Given the description of an element on the screen output the (x, y) to click on. 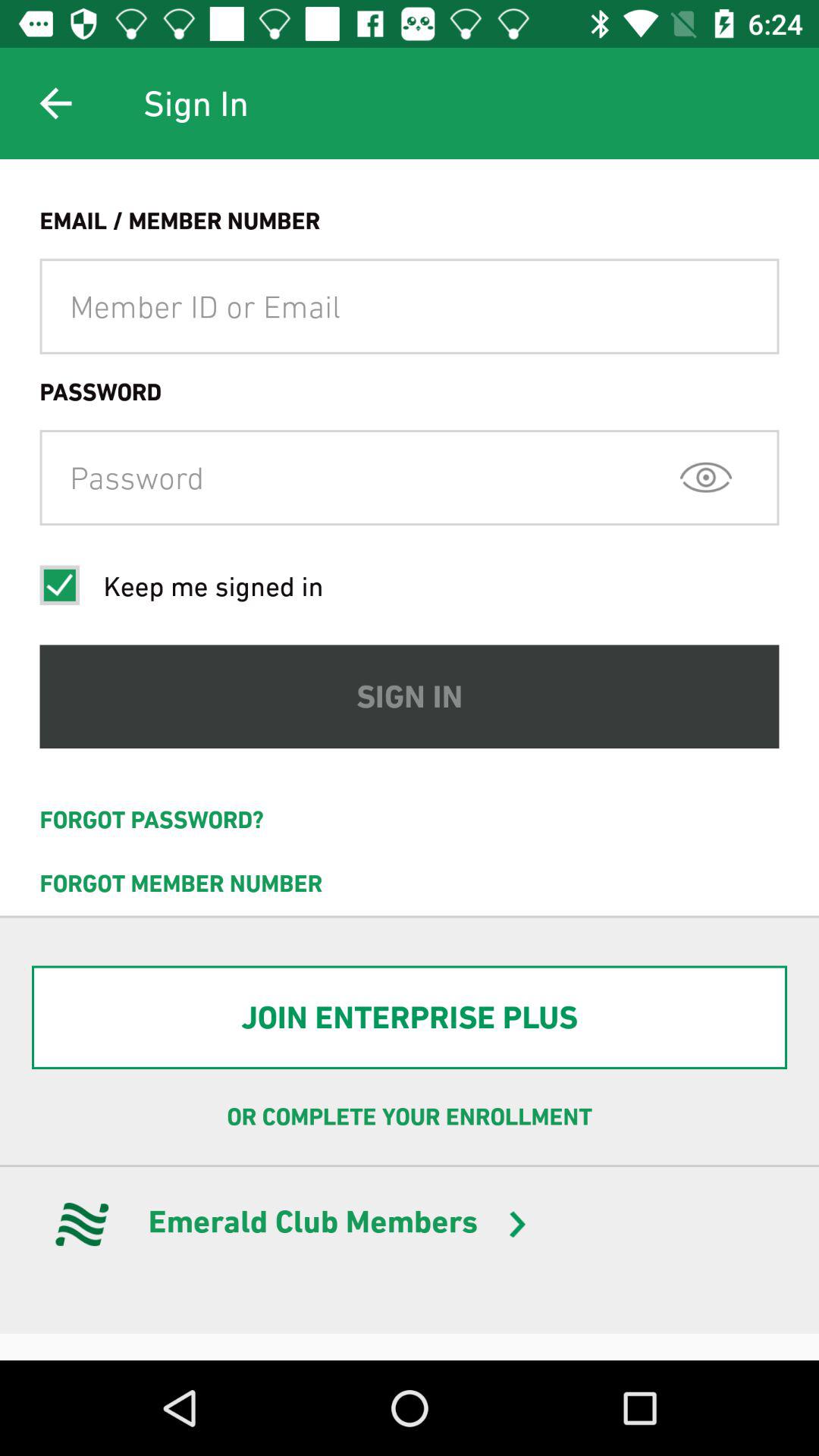
enter password text box (409, 477)
